Given the description of an element on the screen output the (x, y) to click on. 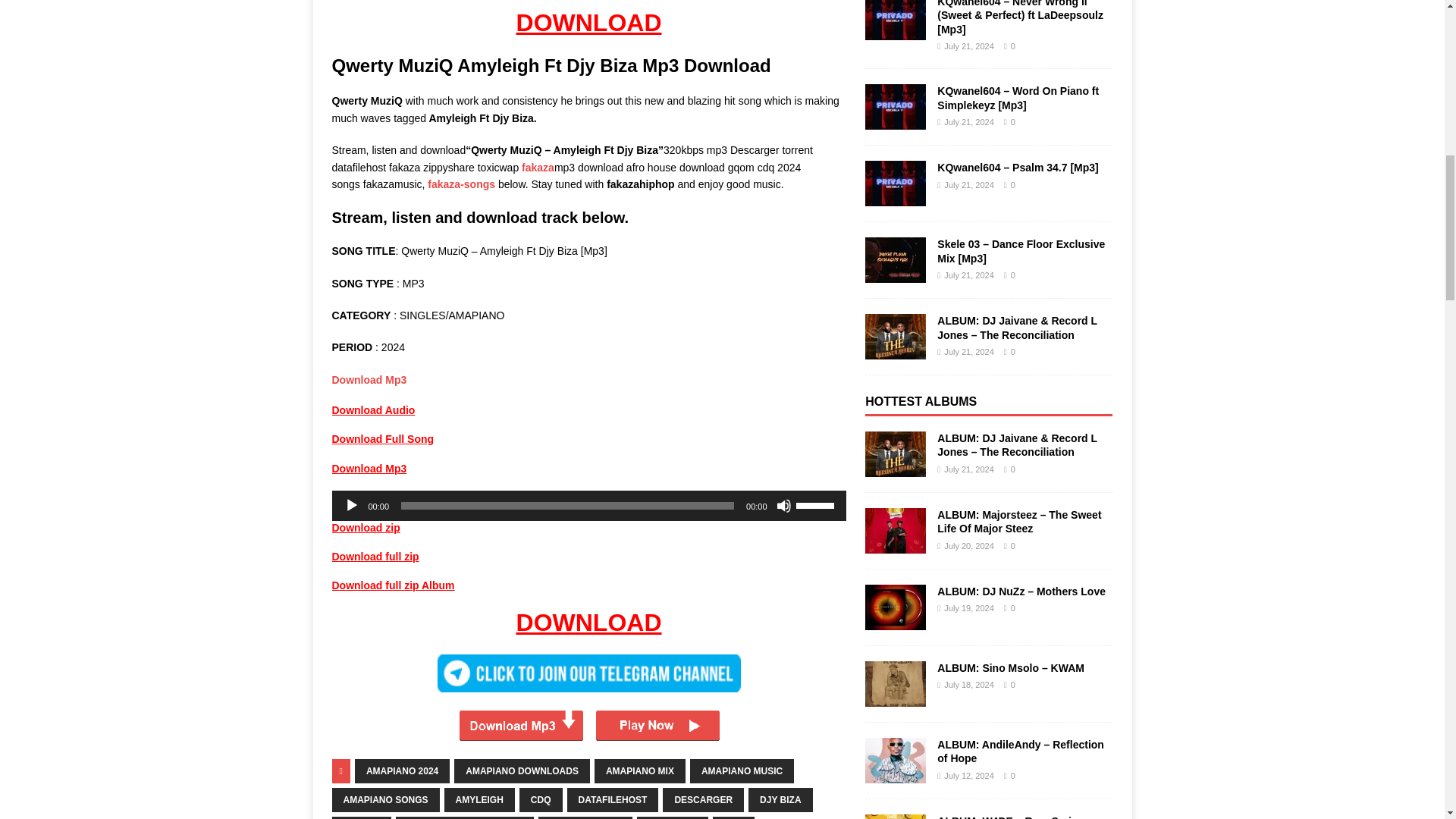
Download Full Song (382, 439)
Mute (784, 505)
Download Mp3 (369, 379)
Download Audio (372, 410)
DOWNLOAD (589, 22)
fakaza-songs (461, 184)
Play (351, 505)
fakaza (537, 167)
